Given the description of an element on the screen output the (x, y) to click on. 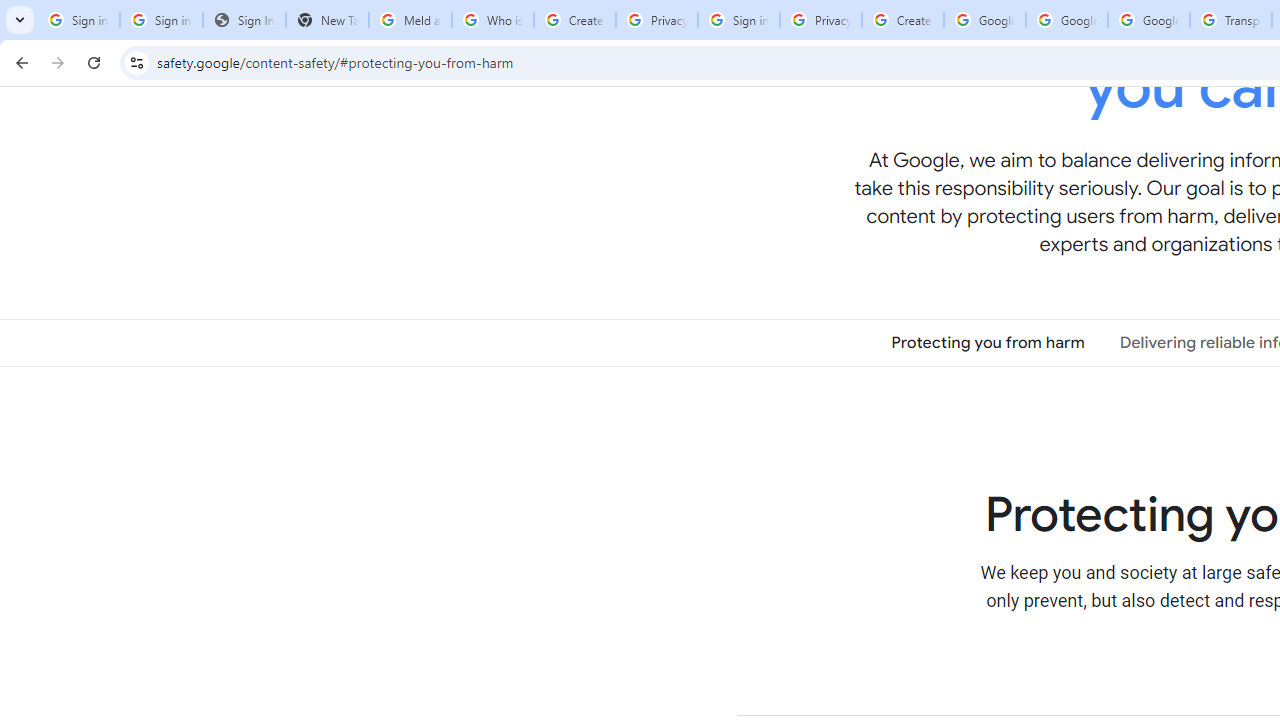
Create your Google Account (574, 20)
New Tab (326, 20)
Who is my administrator? - Google Account Help (492, 20)
Sign in - Google Accounts (78, 20)
Sign In - USA TODAY (244, 20)
